Given the description of an element on the screen output the (x, y) to click on. 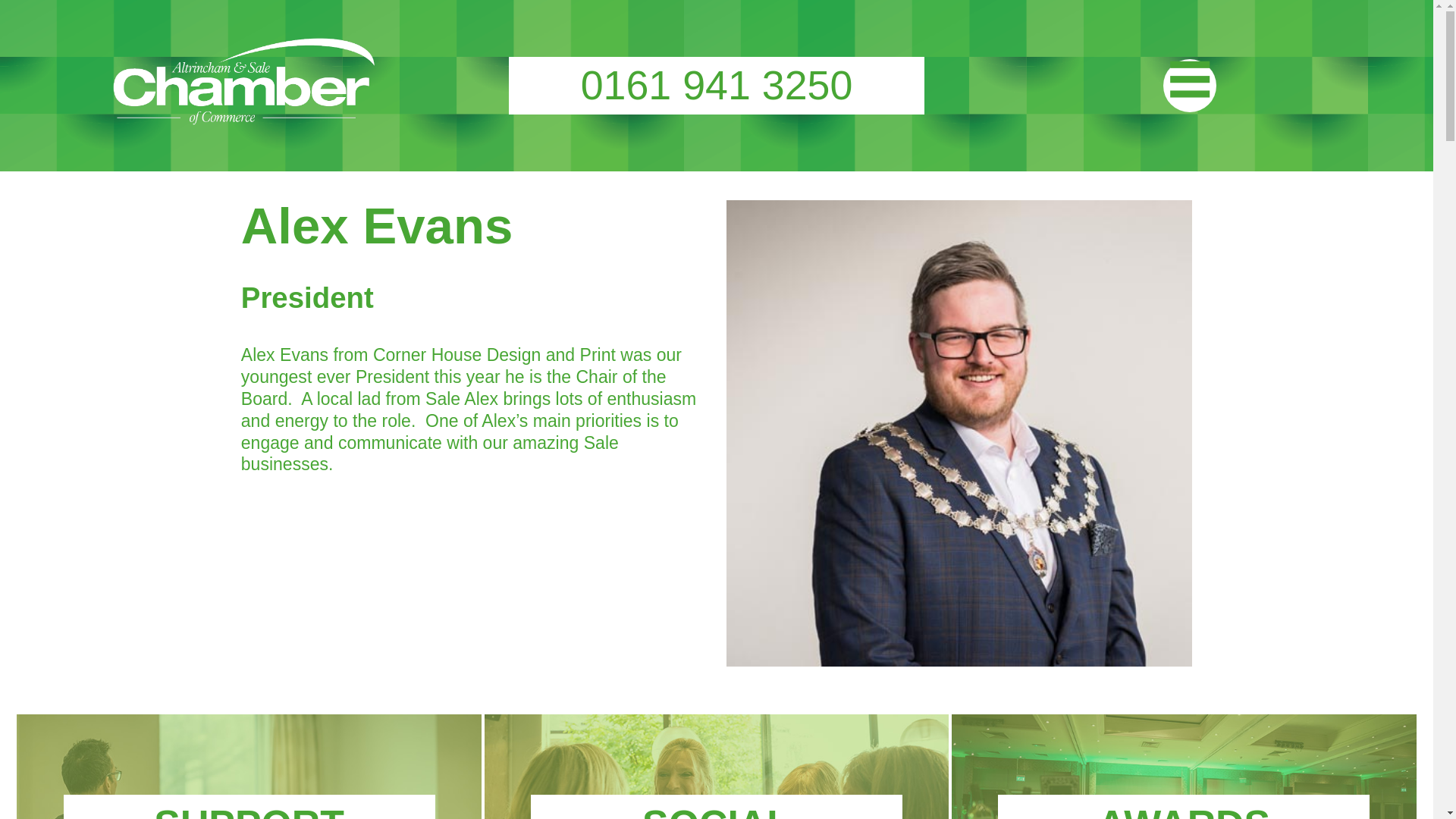
0161 941 3250 (716, 84)
AWARDS (1183, 810)
SUPPORT (248, 810)
SOCIAL (716, 810)
